Given the description of an element on the screen output the (x, y) to click on. 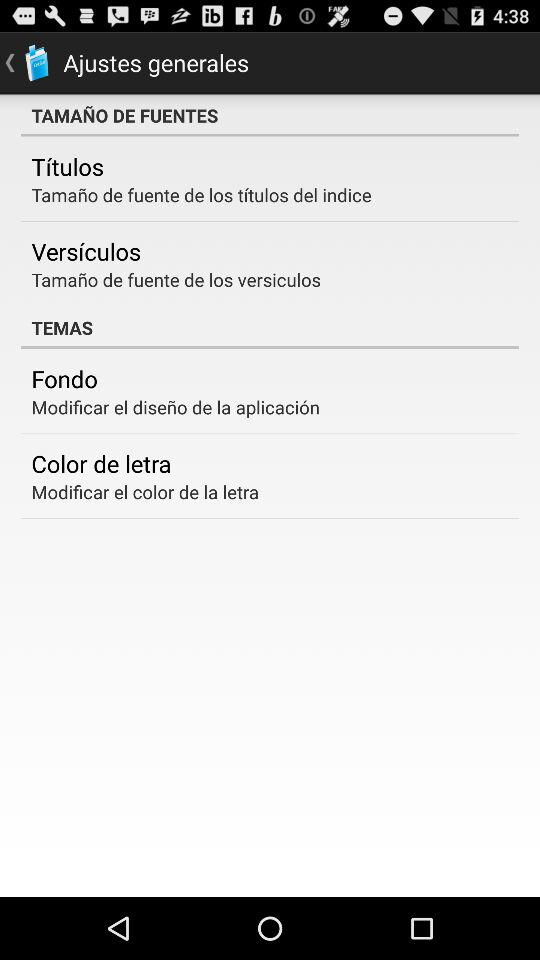
open icon below the temas icon (64, 378)
